Given the description of an element on the screen output the (x, y) to click on. 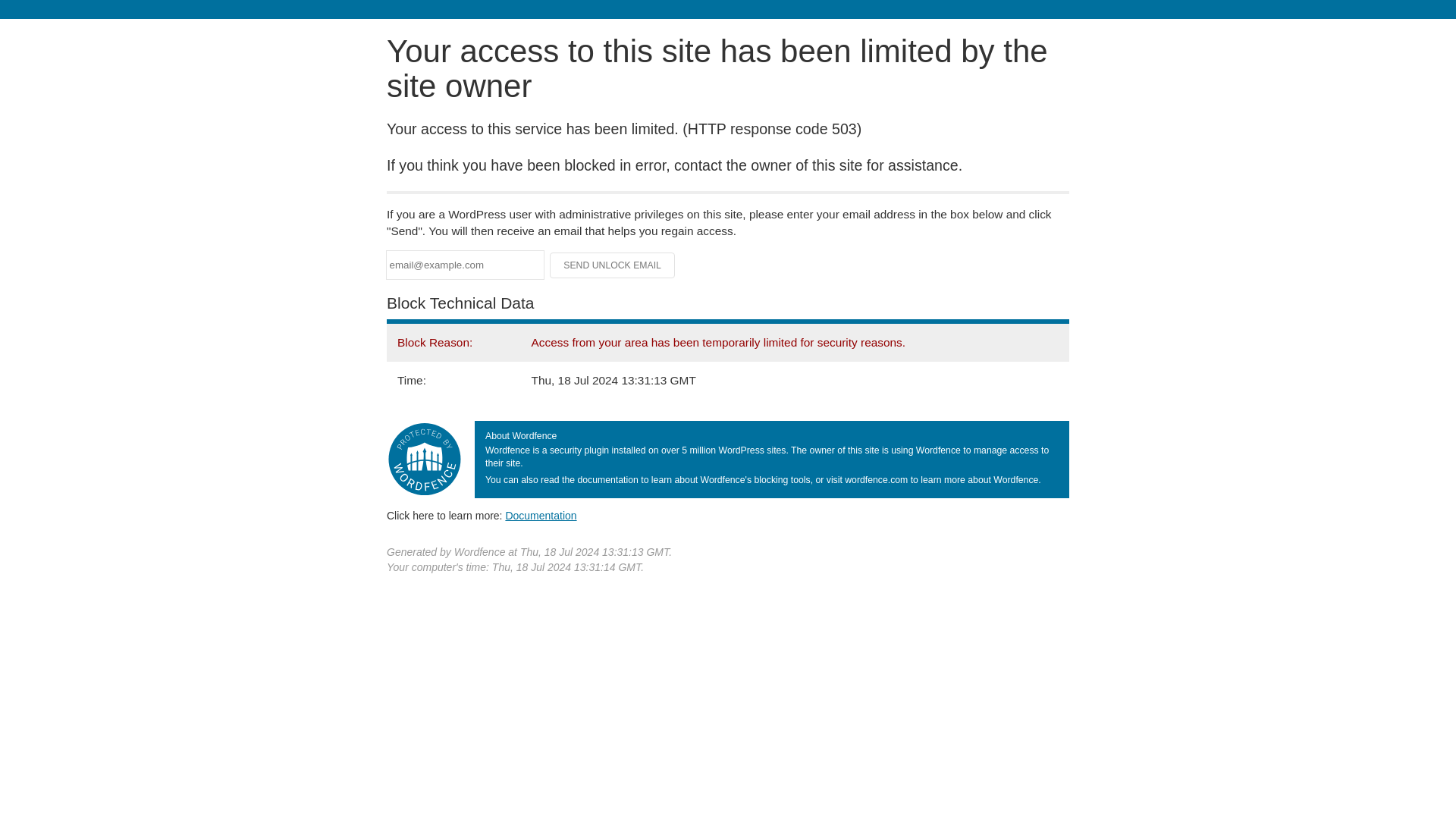
Documentation (540, 515)
Send Unlock Email (612, 265)
Send Unlock Email (612, 265)
